Given the description of an element on the screen output the (x, y) to click on. 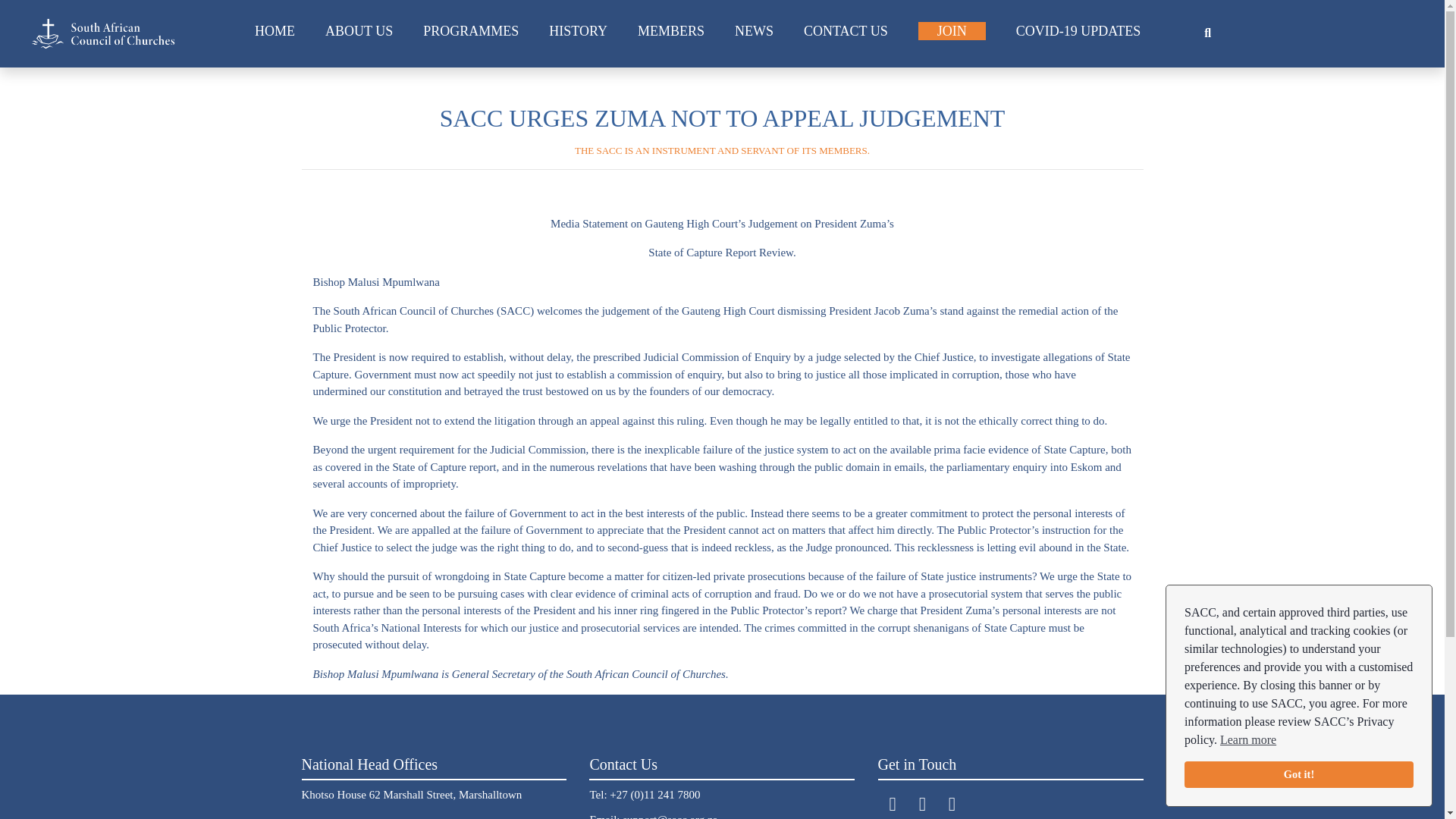
Learn more (1248, 740)
JOIN (951, 31)
ABOUT US (358, 30)
HOME (274, 30)
CONTACT US (845, 30)
PROGRAMMES (470, 30)
MEMBERS (670, 30)
Got it! (1299, 774)
HISTORY (577, 30)
NEWS (754, 30)
